Given the description of an element on the screen output the (x, y) to click on. 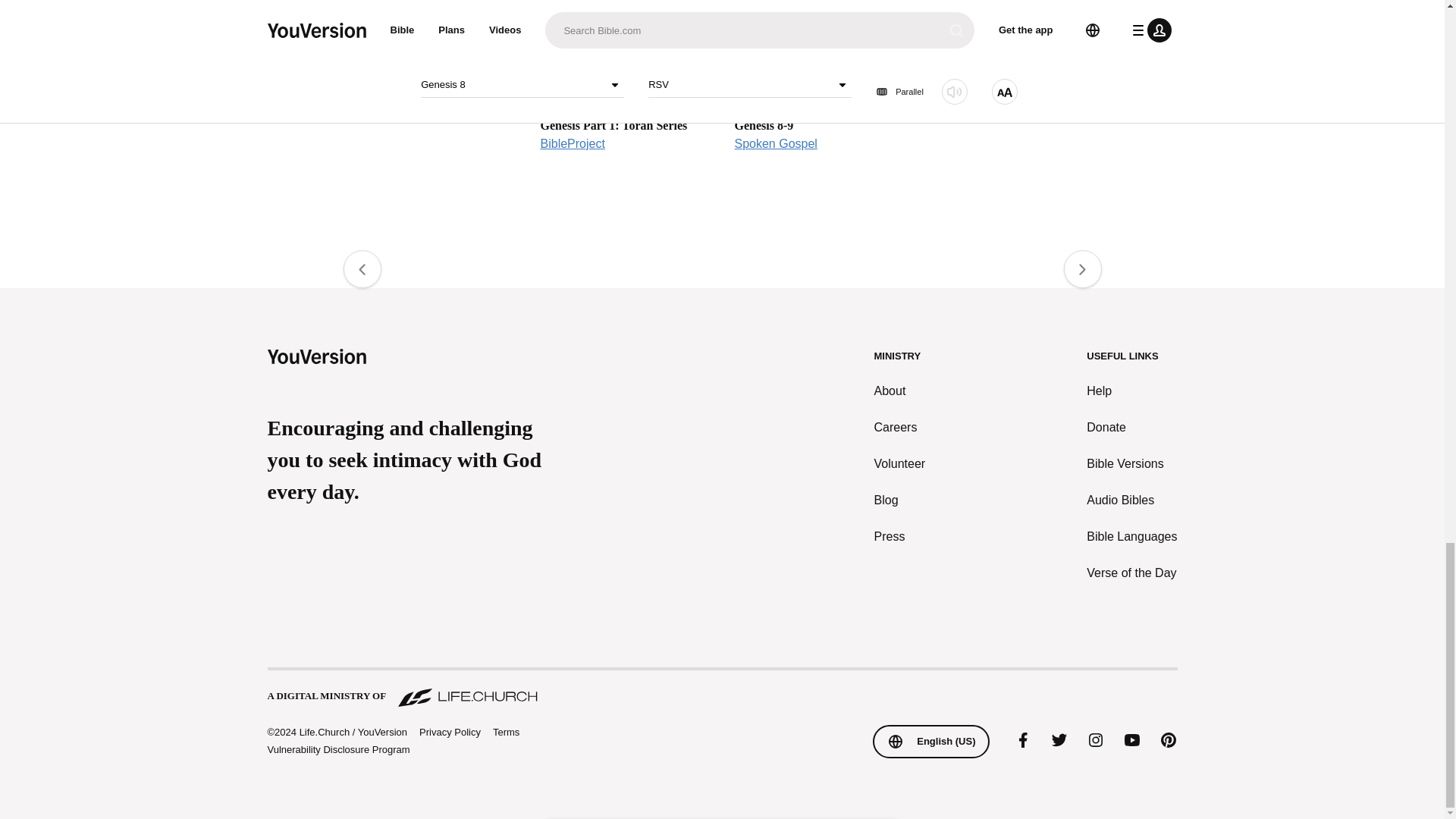
Terms (506, 731)
Bible Versions (1131, 464)
A DIGITAL MINISTRY OF (721, 688)
Donate (1131, 427)
Verse of the Day (818, 83)
Volunteer (1131, 573)
Audio Bibles (625, 83)
Careers (900, 464)
